Given the description of an element on the screen output the (x, y) to click on. 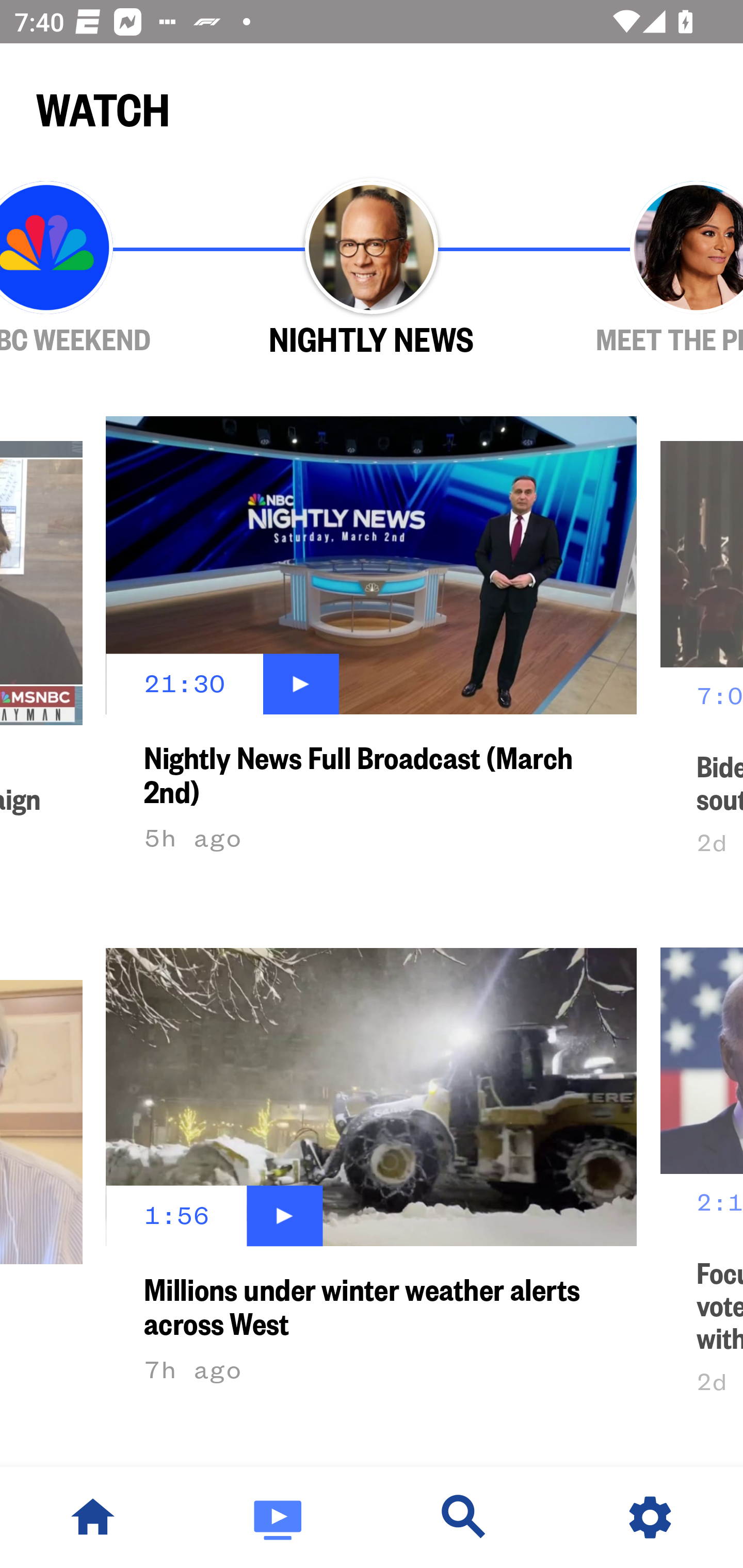
MSNBC WEEKEND (104, 268)
NIGHTLY NEWS (371, 268)
MEET THE PRESS (638, 268)
NBC News Home (92, 1517)
Discover (464, 1517)
Settings (650, 1517)
